Given the description of an element on the screen output the (x, y) to click on. 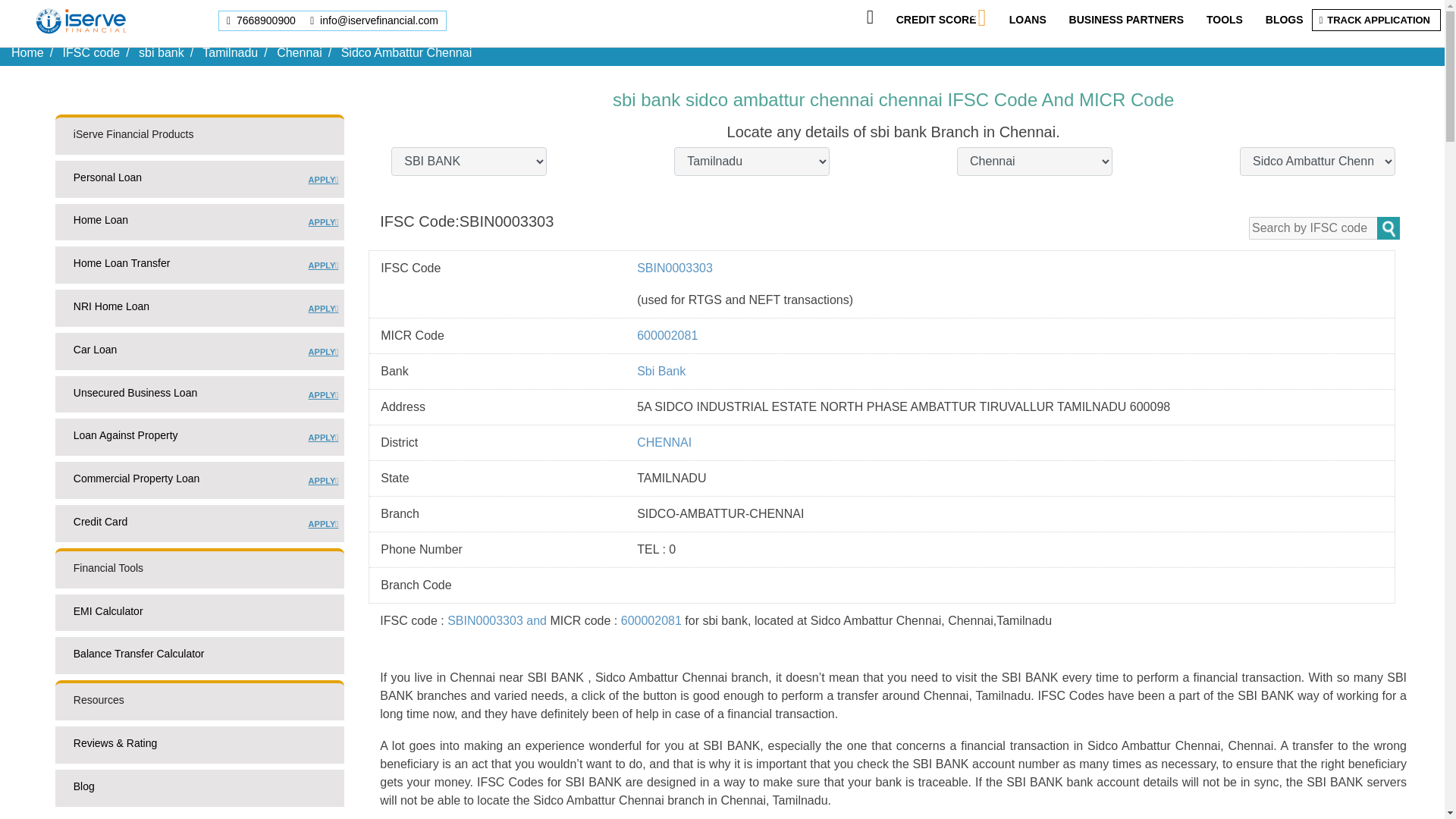
Tamilnadu (199, 225)
Home (229, 51)
TRACK APPLICATION (199, 267)
CREDIT SCORE (27, 51)
 7668900900 (1377, 19)
IFSC code (936, 19)
BUSINESS PARTNERS (262, 20)
Chennai (199, 181)
sbi bank (91, 51)
BLOGS (1125, 19)
